Given the description of an element on the screen output the (x, y) to click on. 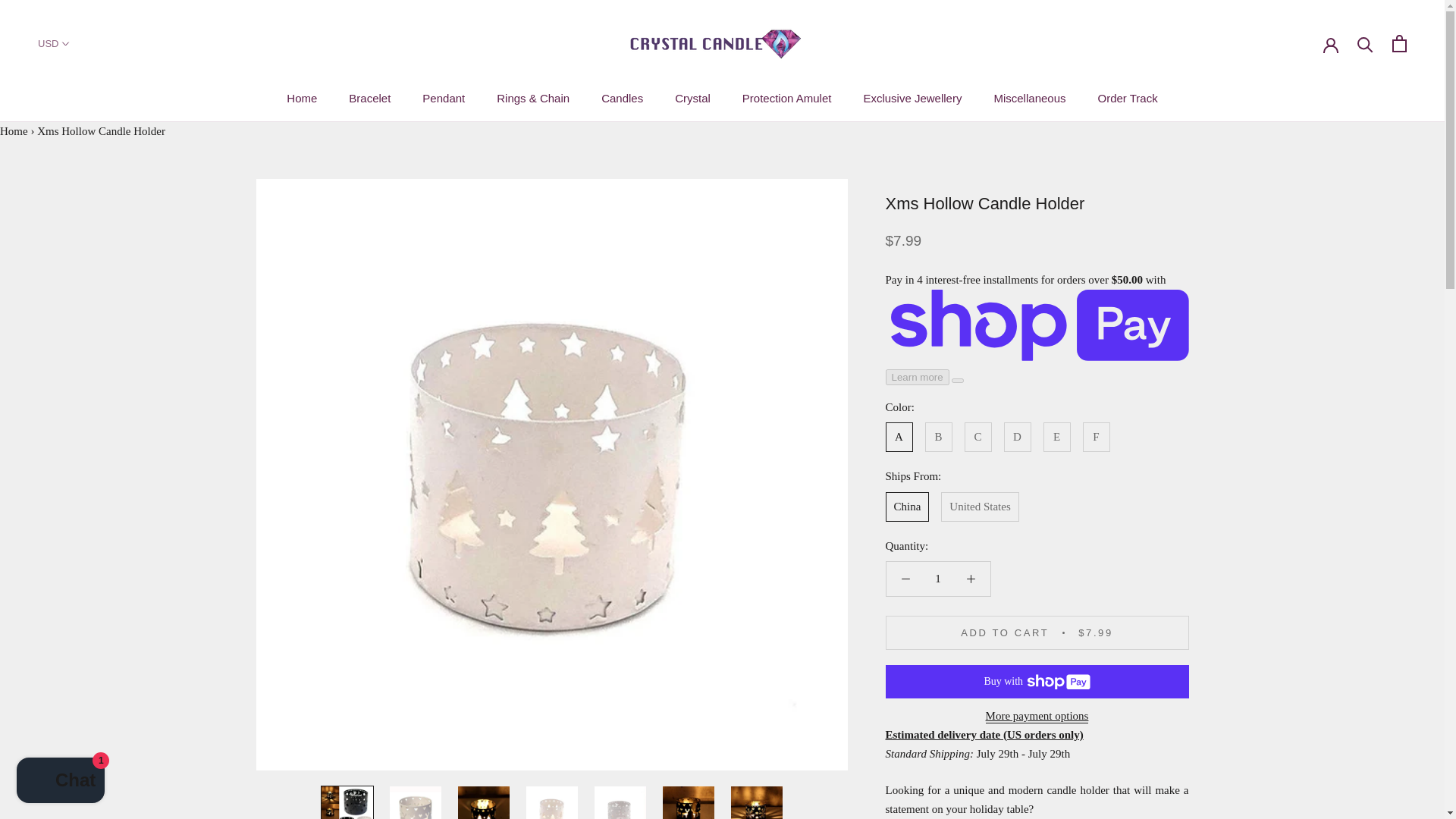
Shopify online store chat (60, 781)
1 (938, 578)
Home (13, 131)
Currency selector (53, 43)
